Given the description of an element on the screen output the (x, y) to click on. 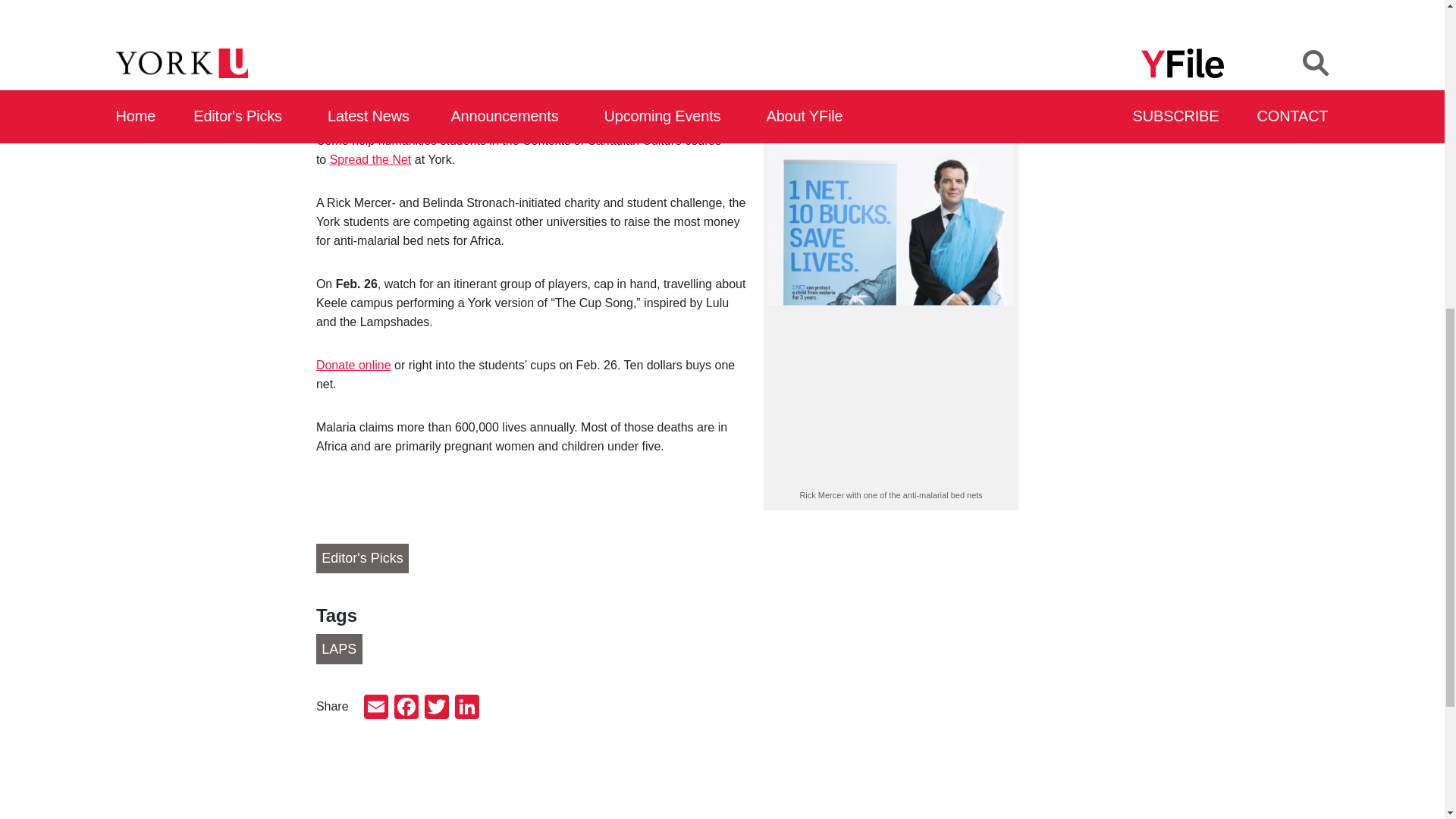
LAPS (338, 648)
LinkedIn (466, 708)
Twitter (436, 708)
Facebook (406, 708)
Spread the Net (371, 159)
Donate online (353, 364)
Email (376, 708)
Email (376, 708)
Facebook (406, 708)
Editor's Picks (362, 558)
